Given the description of an element on the screen output the (x, y) to click on. 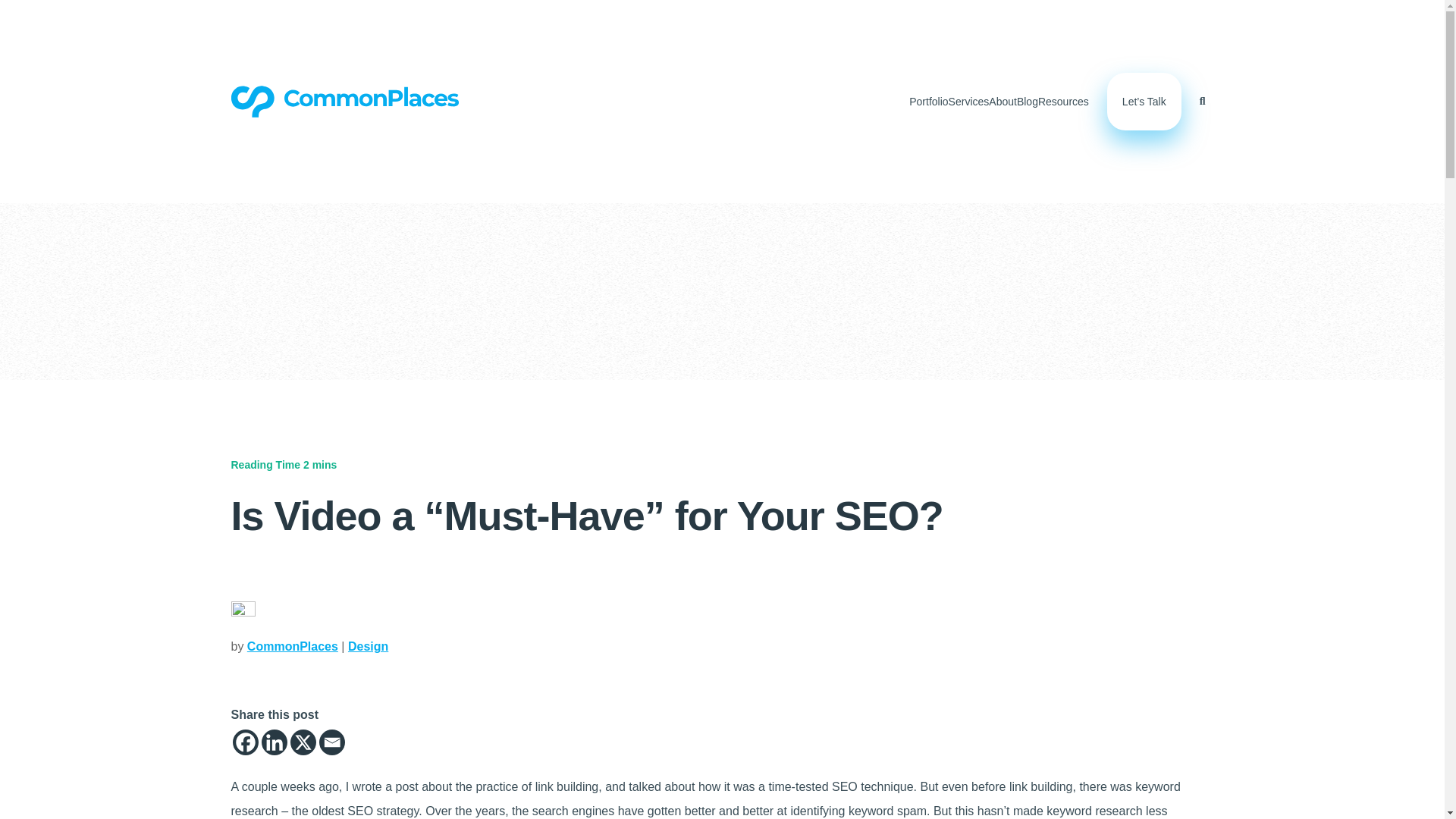
Design (367, 645)
X (302, 742)
Email (330, 742)
CommonPlaces (292, 645)
Posts by CommonPlaces (292, 645)
Facebook (244, 742)
Linkedin (273, 742)
